Given the description of an element on the screen output the (x, y) to click on. 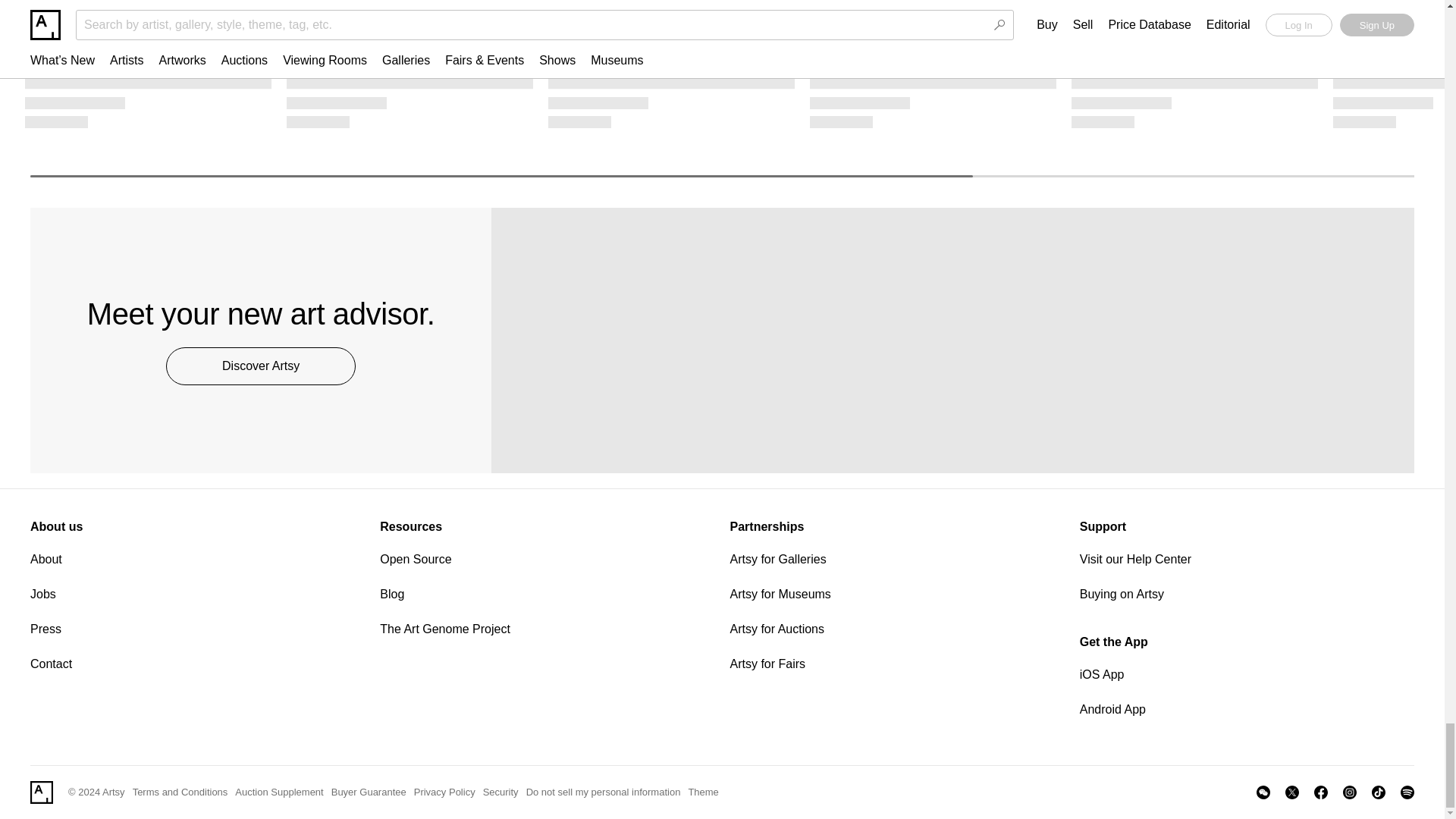
Discover Artsy (260, 365)
Jobs (197, 594)
Open Source (547, 559)
About (197, 559)
Contact (197, 664)
Press (197, 629)
Artsy (41, 792)
